Given the description of an element on the screen output the (x, y) to click on. 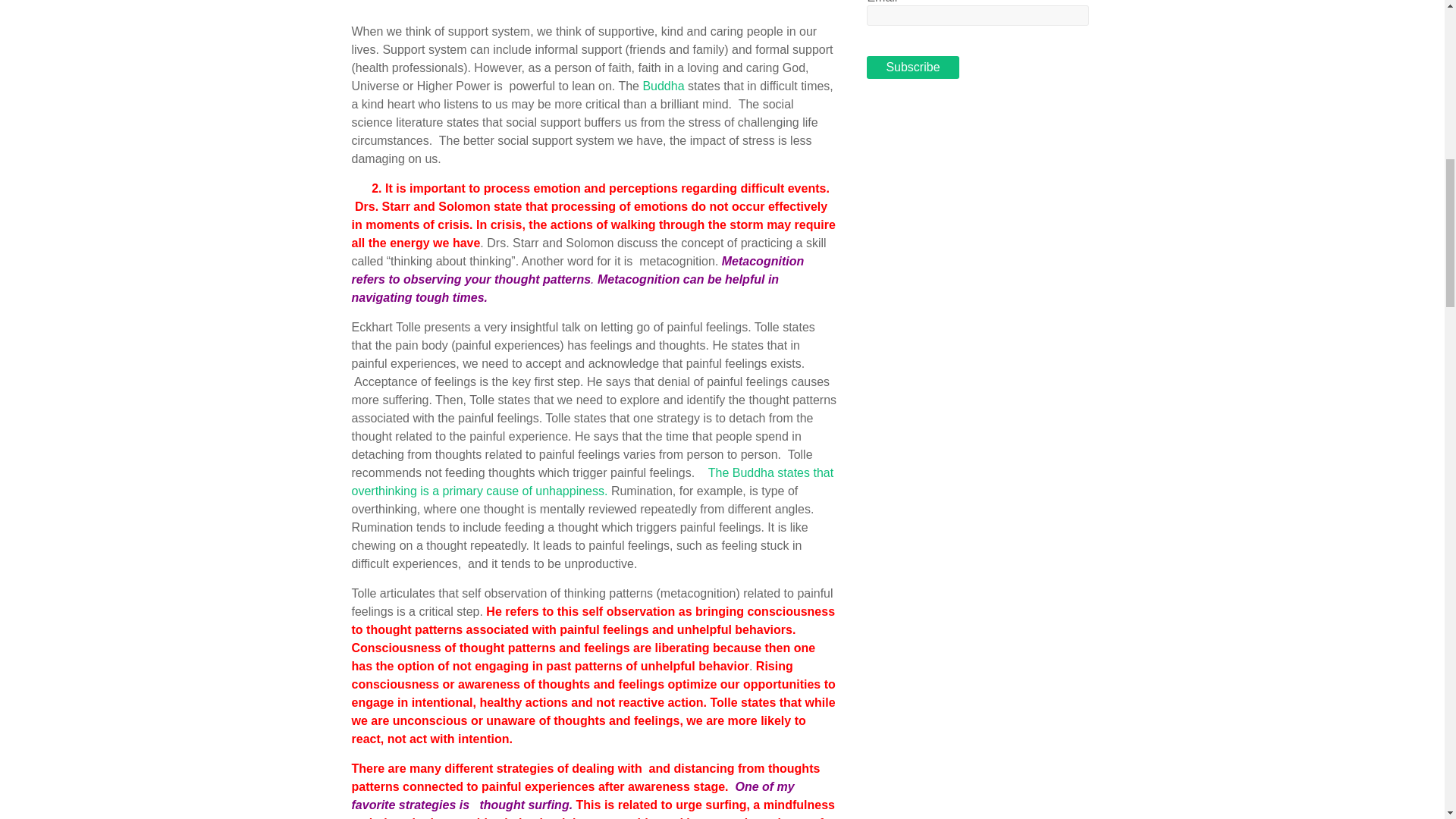
Subscribe (912, 67)
Subscribe (912, 67)
Buddha (663, 85)
